Given the description of an element on the screen output the (x, y) to click on. 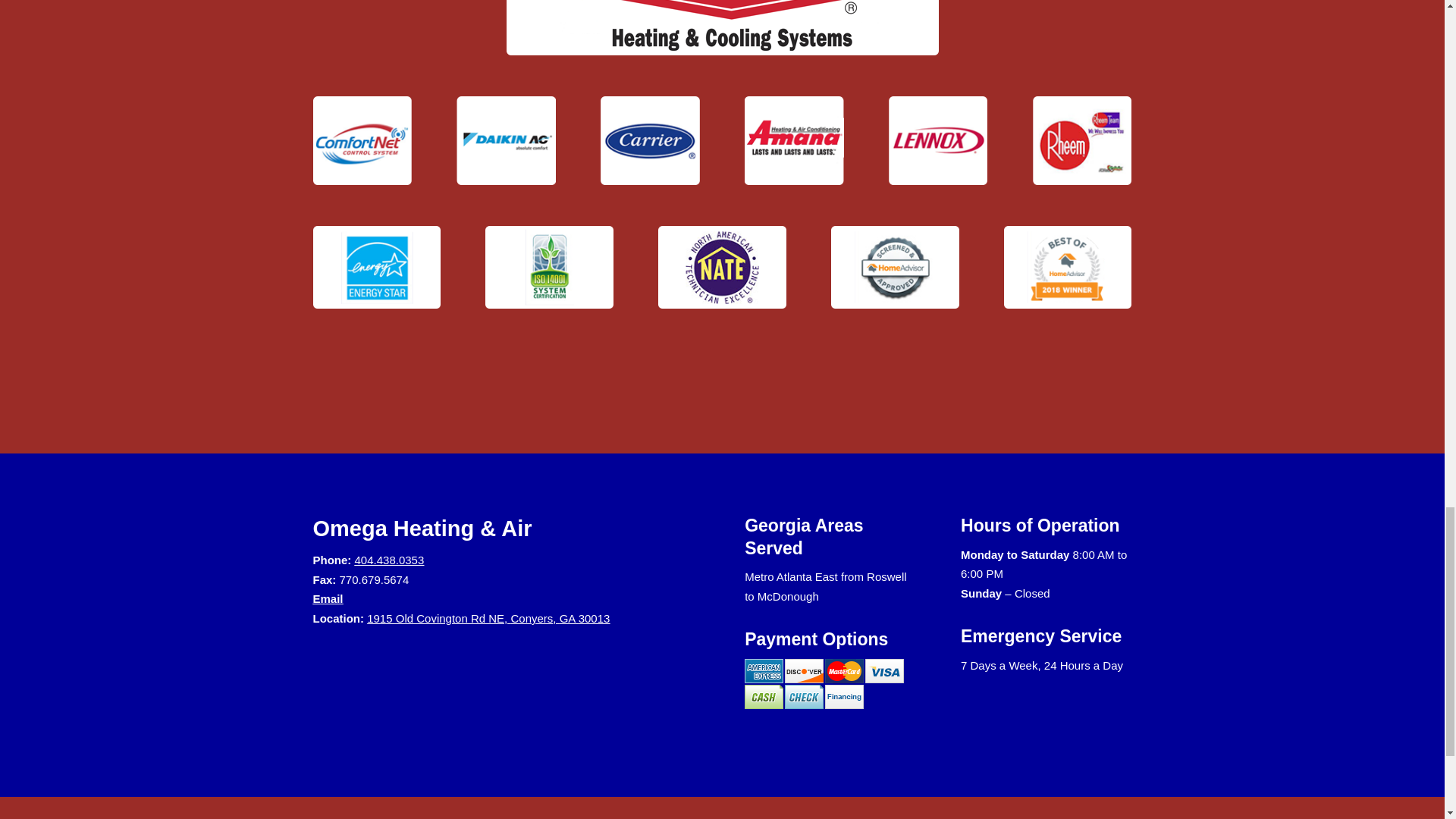
Energy Star logo (376, 266)
Carrier Global logo (648, 140)
ISO 14001 System Certification (548, 266)
Rheem Manufacturing Company logo (1081, 140)
1915 Old Covington Rd NE, (438, 617)
404.438.0353 (390, 559)
Lennox International logo (937, 140)
Conyers, GA 30013 (560, 617)
ComfortNet Control System Logo  (361, 140)
Email (327, 598)
Daikin Air Conditioning logo (505, 140)
